Given the description of an element on the screen output the (x, y) to click on. 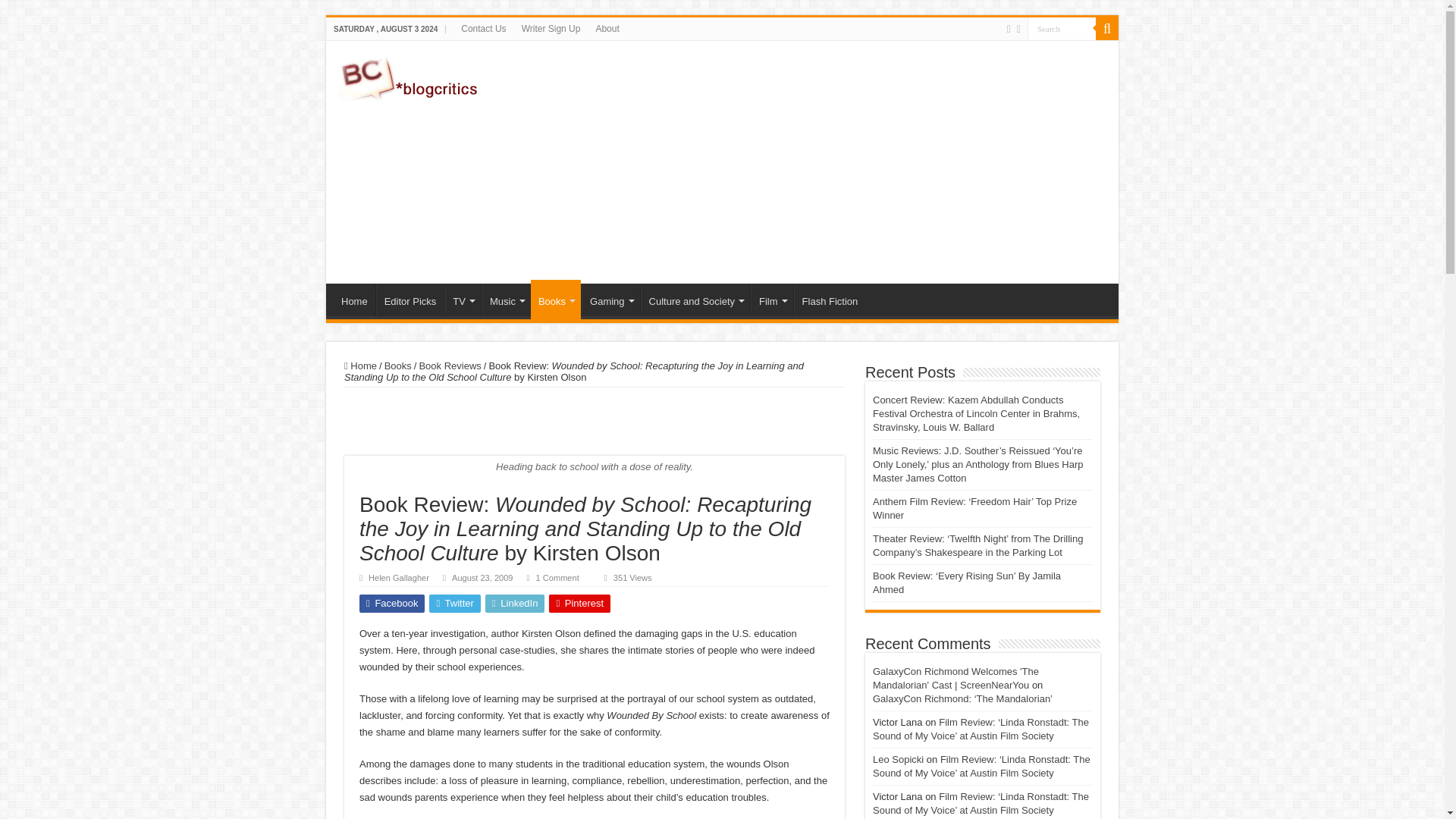
Search (1061, 28)
Search (1061, 28)
Search (1061, 28)
Advertisement (830, 162)
Blogcritics (409, 75)
